Given the description of an element on the screen output the (x, y) to click on. 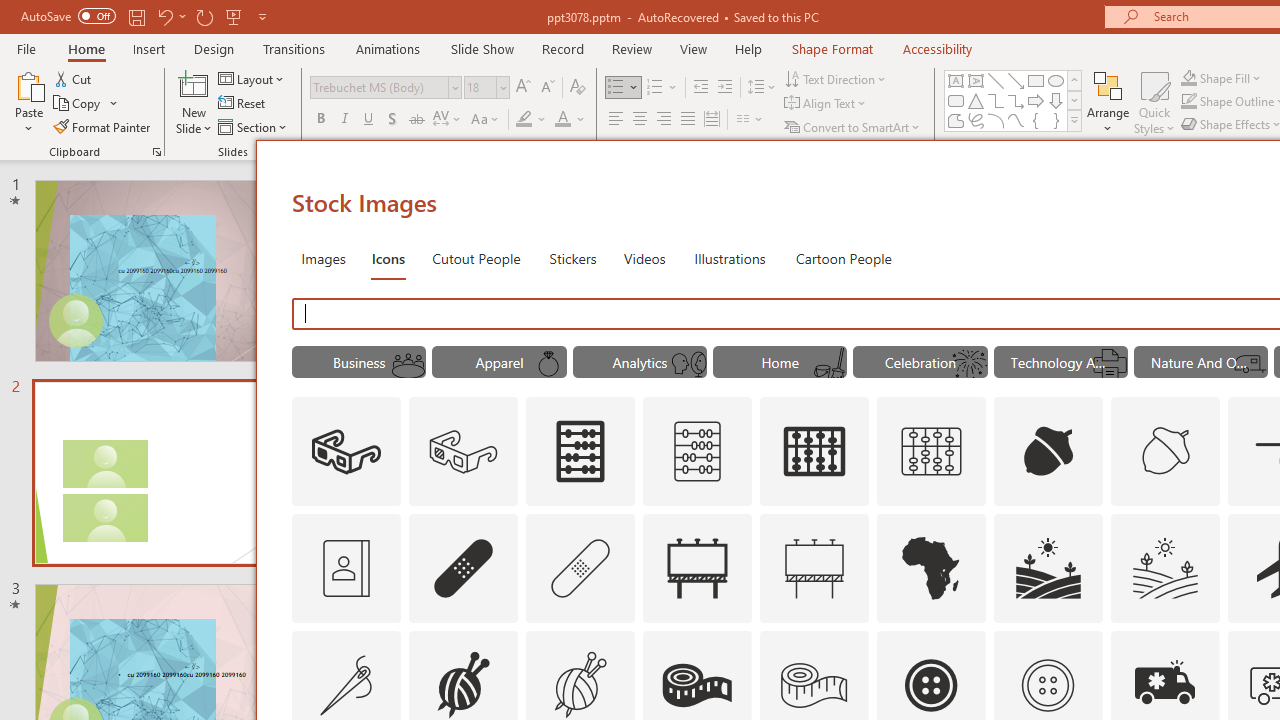
AutomationID: Icons_AdhesiveBandage (463, 568)
Shape Fill Dark Green, Accent 2 (1188, 78)
AutomationID: Icons_Agriculture_M (1165, 568)
Underline (369, 119)
"Nature And Outdoors" Icons. (1201, 362)
"Apparel" Icons. (499, 362)
AutomationID: Icons_Advertising_M (815, 568)
Section (254, 126)
